Given the description of an element on the screen output the (x, y) to click on. 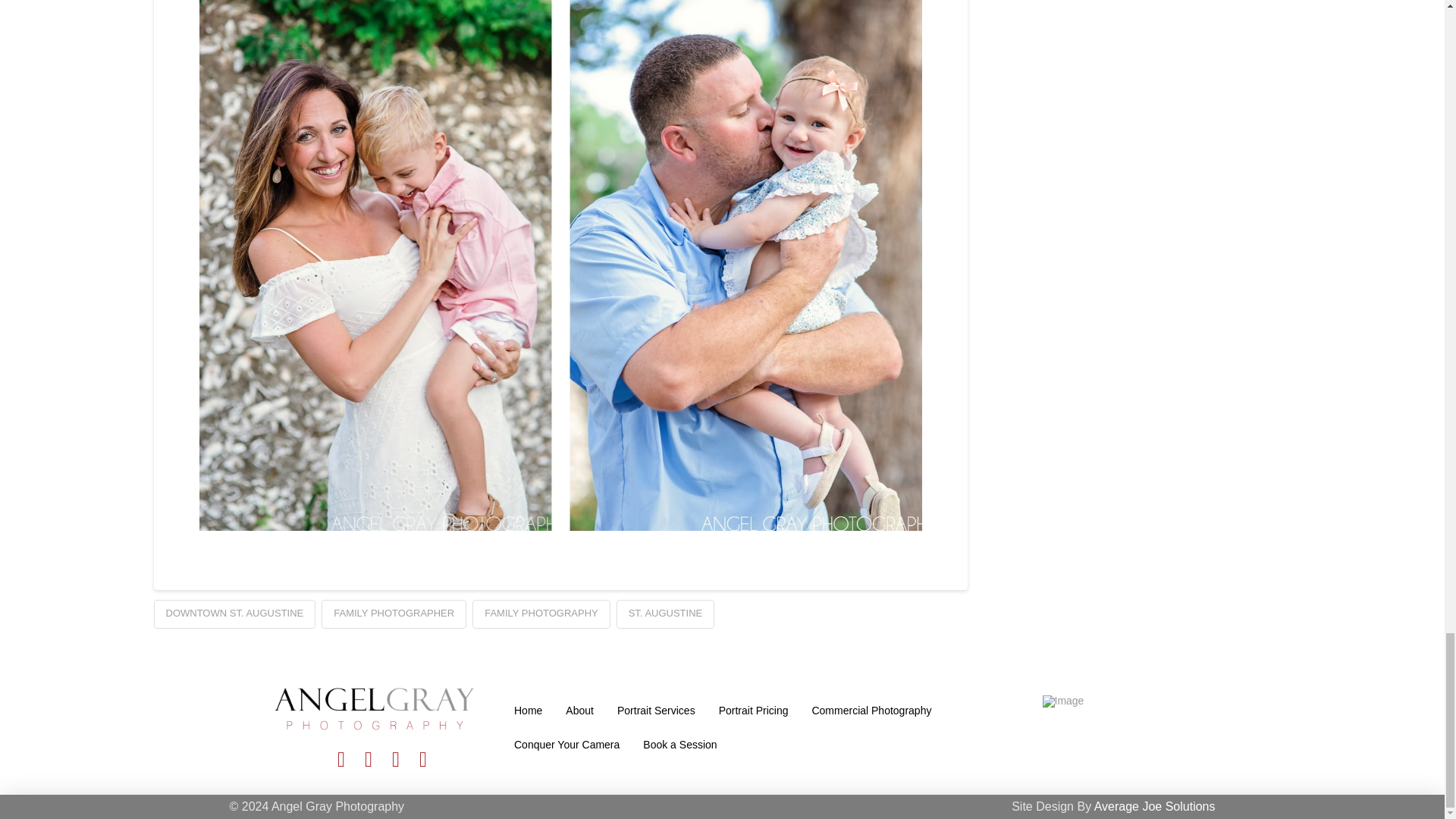
FAMILY PHOTOGRAPHY (540, 613)
FAMILY PHOTOGRAPHER (393, 613)
DOWNTOWN ST. AUGUSTINE (233, 613)
ST. AUGUSTINE (664, 613)
